Given the description of an element on the screen output the (x, y) to click on. 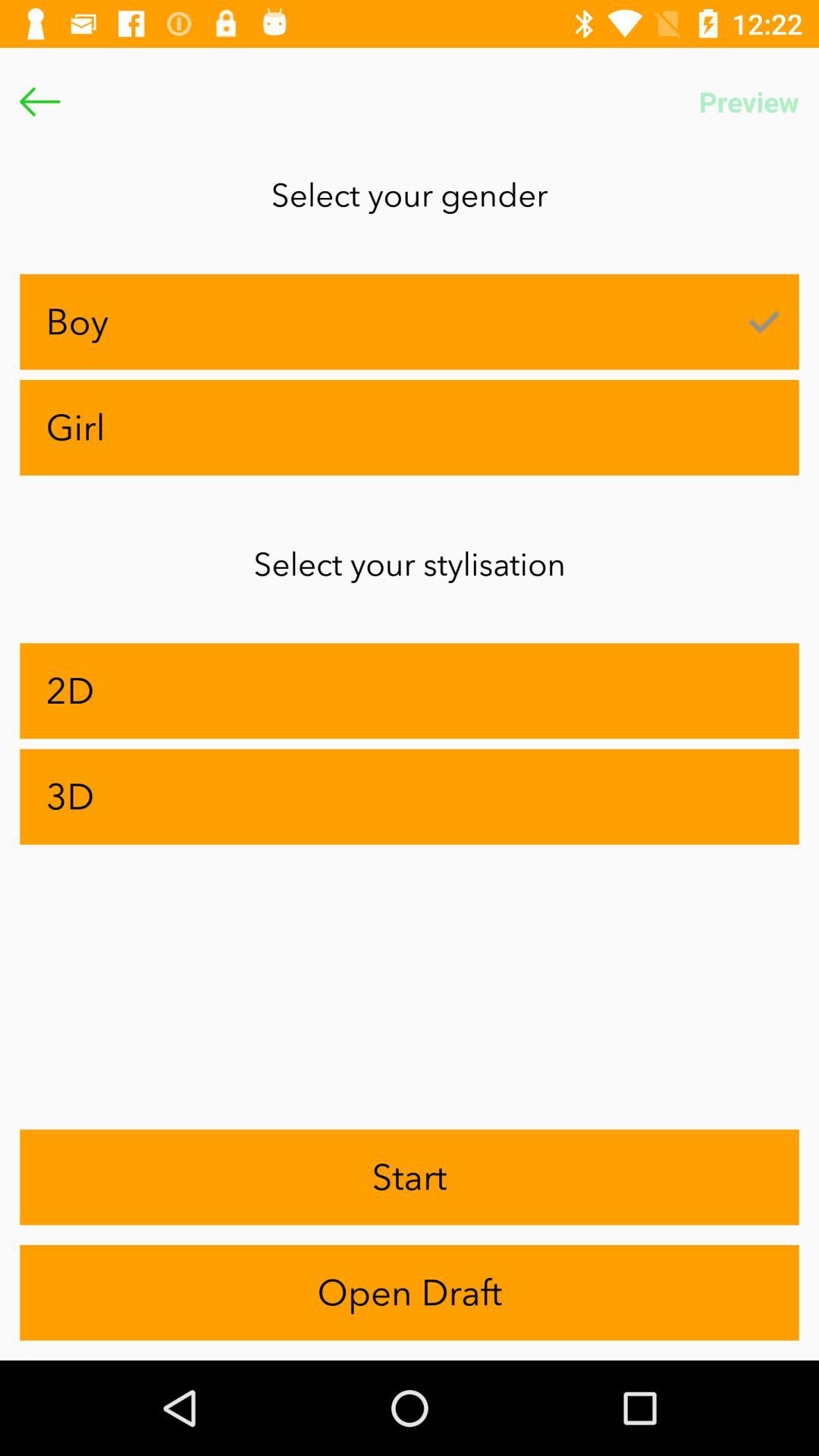
choose the icon above the open draft item (409, 1177)
